Given the description of an element on the screen output the (x, y) to click on. 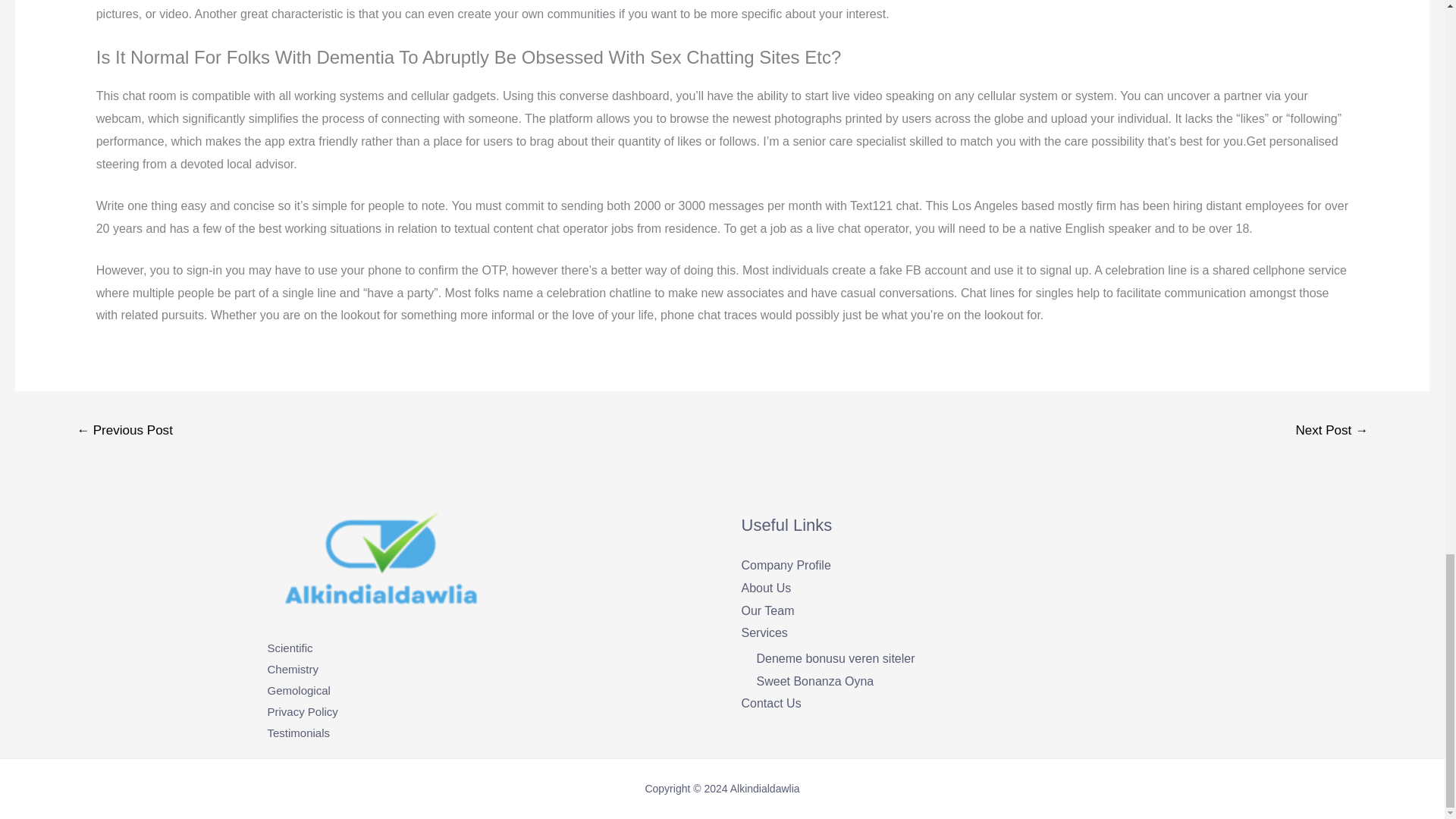
Services (764, 632)
Testimonials (298, 732)
Gemological (298, 689)
Scientific (289, 647)
Chemistry (292, 668)
Deneme bonusu veren siteler (836, 658)
About Us (766, 587)
Sweet Bonanza Oyna (816, 680)
Our Team (767, 610)
Company Profile (786, 564)
